Given the description of an element on the screen output the (x, y) to click on. 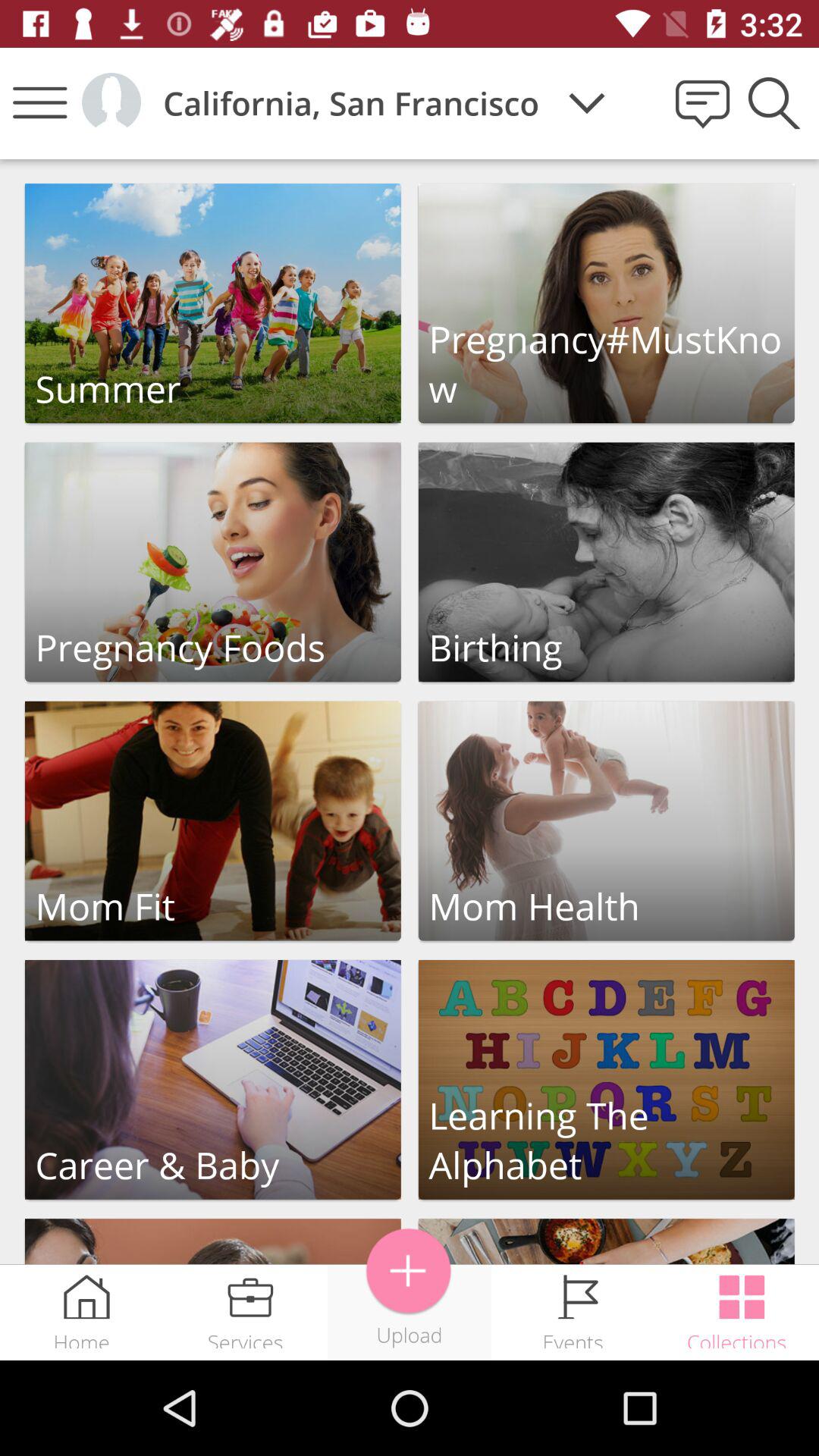
open learning the alphabet (606, 1079)
